Given the description of an element on the screen output the (x, y) to click on. 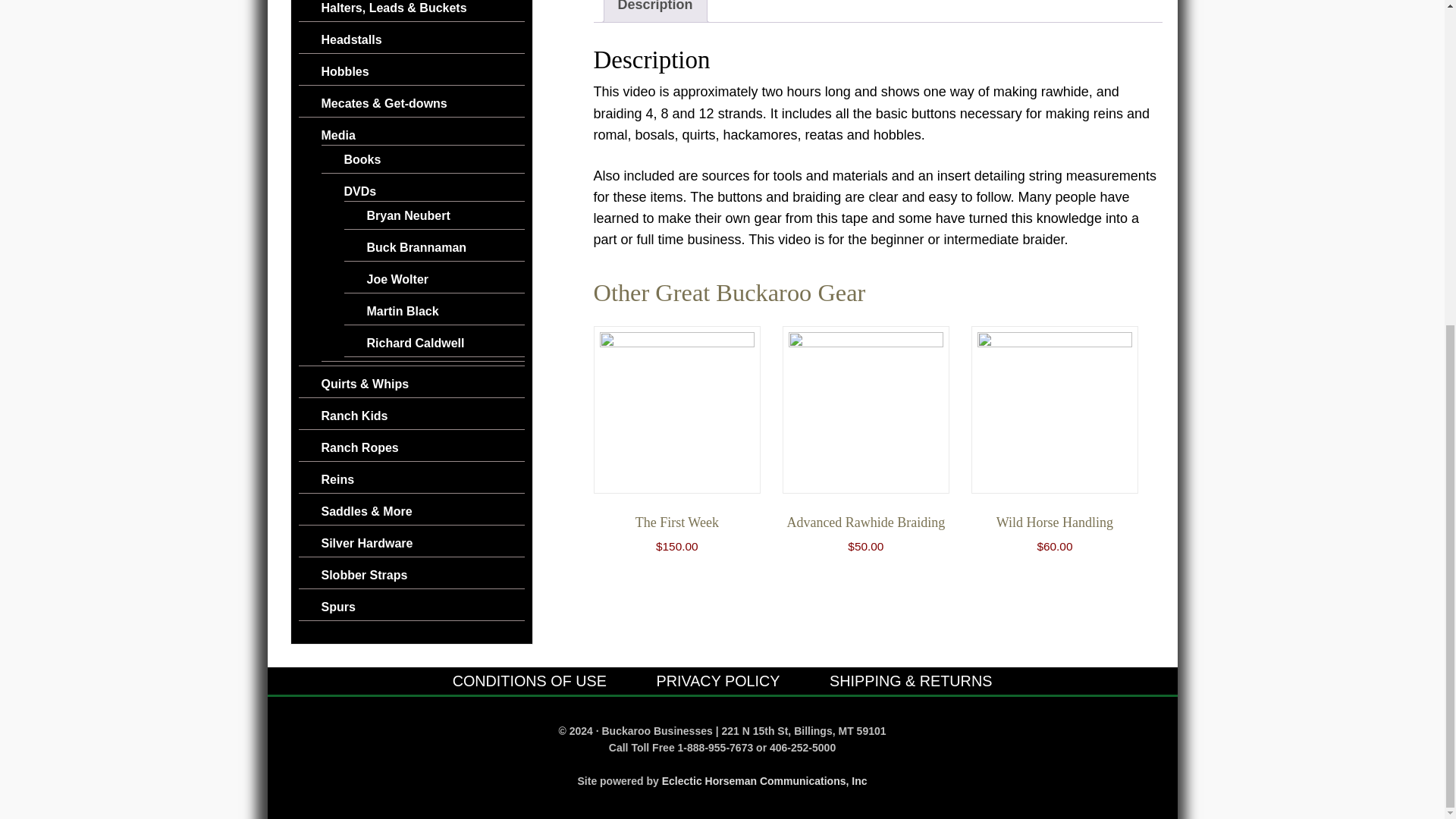
Description (655, 11)
Books (362, 159)
Richard Caldwell (415, 342)
Headstalls (351, 39)
Hobbles (345, 71)
Joe Wolter (397, 278)
Martin Black (402, 310)
Buck Brannaman (416, 246)
DVDs (360, 191)
Media (338, 134)
Bryan Neubert (407, 215)
